Given the description of an element on the screen output the (x, y) to click on. 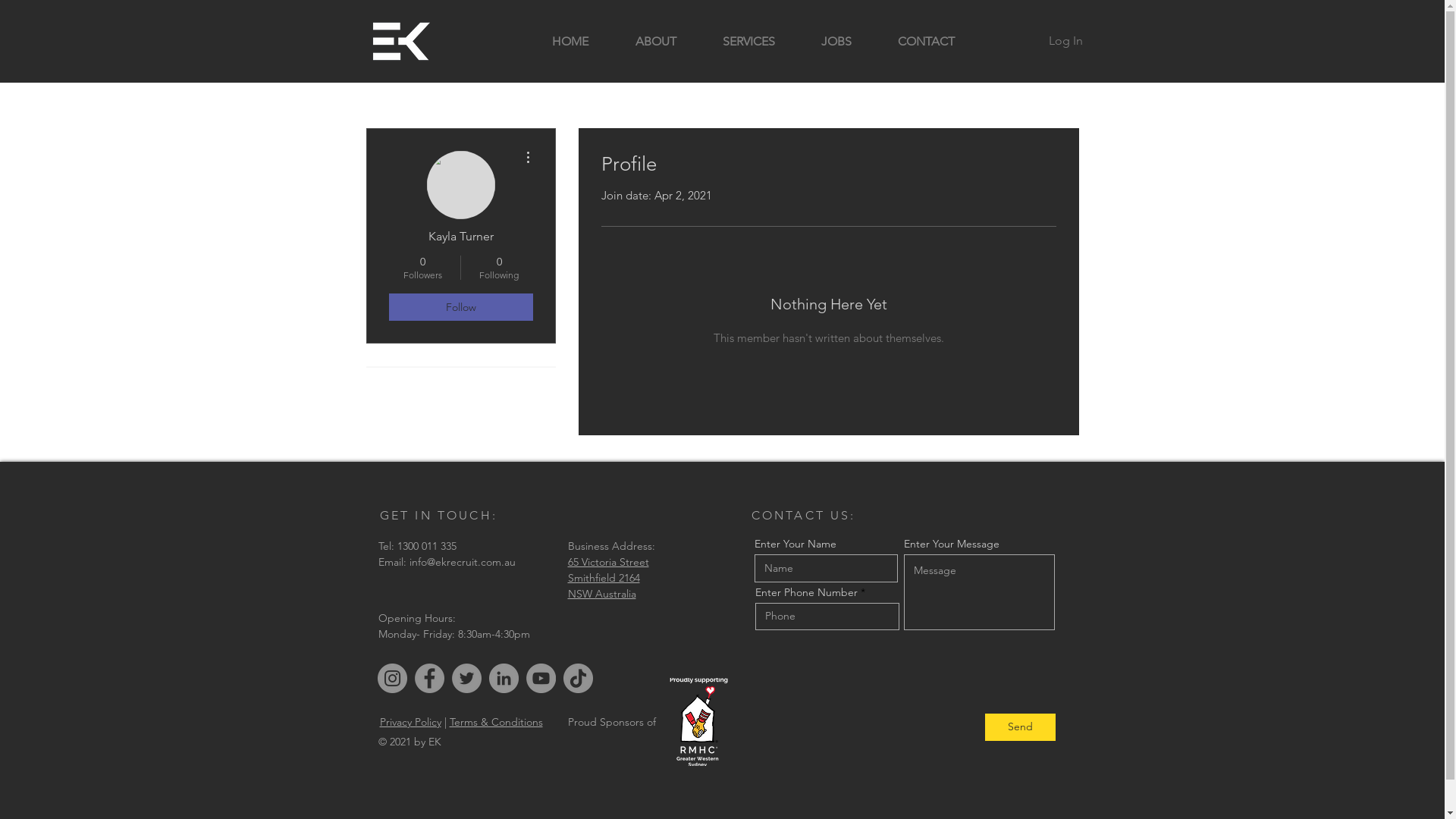
Proud Sponsors of  Element type: text (612, 721)
Follow Element type: text (460, 306)
HOME Element type: text (569, 40)
0
Following Element type: text (499, 267)
info@ekrecruit.com.au Element type: text (462, 561)
JOBS Element type: text (835, 40)
ABOUT Element type: text (655, 40)
0
Followers Element type: text (421, 267)
Terms & Conditions Element type: text (495, 721)
Log In Element type: text (1064, 40)
Send Element type: text (1019, 726)
65 Victoria Street Element type: text (607, 561)
Privacy Policy Element type: text (409, 721)
CONTACT Element type: text (926, 40)
Opening Hours: Element type: text (416, 617)
NSW Australia Element type: text (601, 593)
Smithfield 2164 Element type: text (603, 577)
SERVICES Element type: text (748, 40)
